Given the description of an element on the screen output the (x, y) to click on. 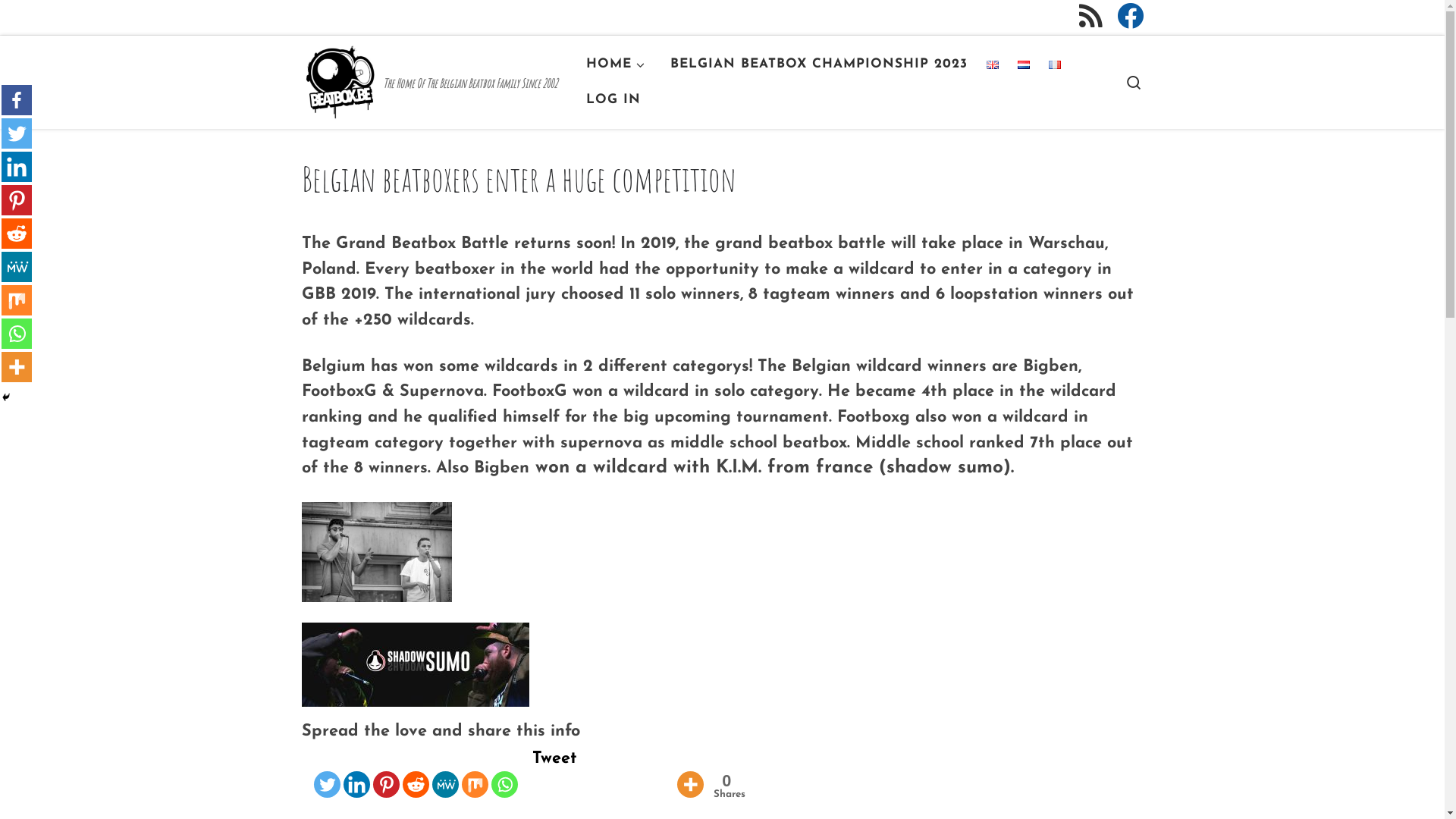
Pinterest Element type: hover (16, 200)
Search Element type: text (1133, 81)
Twitter Element type: hover (326, 772)
Whatsapp Element type: hover (504, 772)
Follow us on Facebook Element type: hover (1129, 16)
More Element type: hover (690, 772)
0
Shares Element type: text (723, 773)
Hide Element type: hover (6, 397)
Facebook Element type: hover (16, 99)
Pinterest Element type: hover (386, 772)
Skip to content Element type: text (70, 21)
Linkedin Element type: hover (16, 166)
Mix Element type: hover (16, 300)
LOG IN Element type: text (613, 100)
Tweet Element type: text (554, 758)
Subscribe to my rss feed Element type: hover (1089, 16)
Reddit Element type: hover (16, 233)
Twitter Element type: hover (16, 133)
HOME Element type: text (618, 64)
Mix Element type: hover (474, 772)
MeWe Element type: hover (16, 266)
Linkedin Element type: hover (356, 772)
MeWe Element type: hover (445, 772)
BELGIAN BEATBOX CHAMPIONSHIP 2023 Element type: text (818, 64)
More Element type: hover (16, 366)
Reddit Element type: hover (415, 772)
Whatsapp Element type: hover (16, 333)
